Given the description of an element on the screen output the (x, y) to click on. 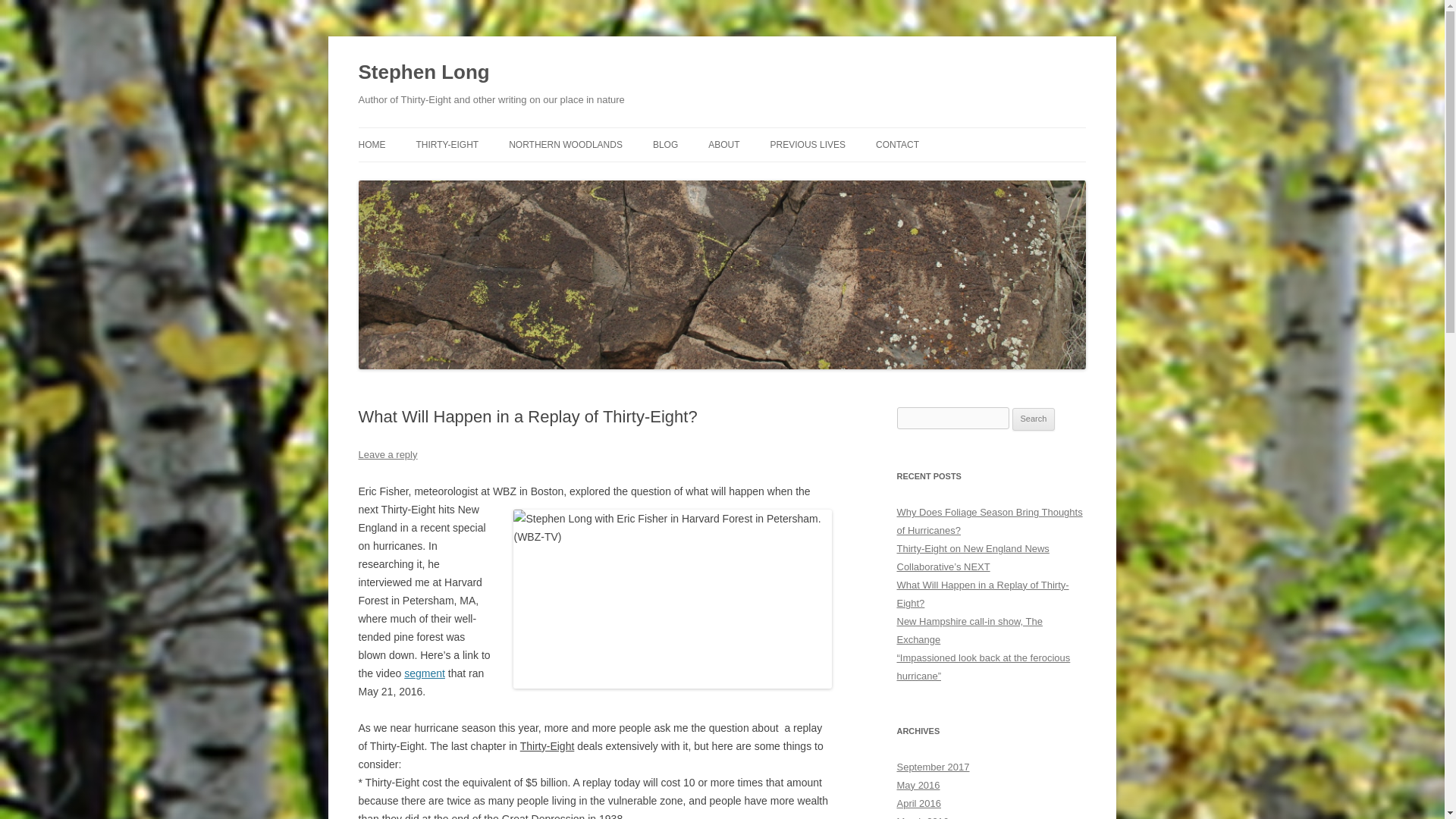
Eye On Weather: Lessons Learned From Hurricane Of 38 (672, 598)
segment (424, 673)
Search (1033, 418)
PREVIOUS LIVES (807, 144)
Stephen Long (423, 72)
CONTACT (897, 144)
April 2016 (918, 803)
March 2016 (922, 817)
NORTHERN WOODLANDS (565, 144)
THIRTY-EIGHT (446, 144)
New Hampshire call-in show, The Exchange (969, 630)
Why Does Foliage Season Bring Thoughts of Hurricanes? (988, 521)
PLAYWRIGHT: WILLIS AND SONS (845, 176)
May 2016 (917, 785)
